Given the description of an element on the screen output the (x, y) to click on. 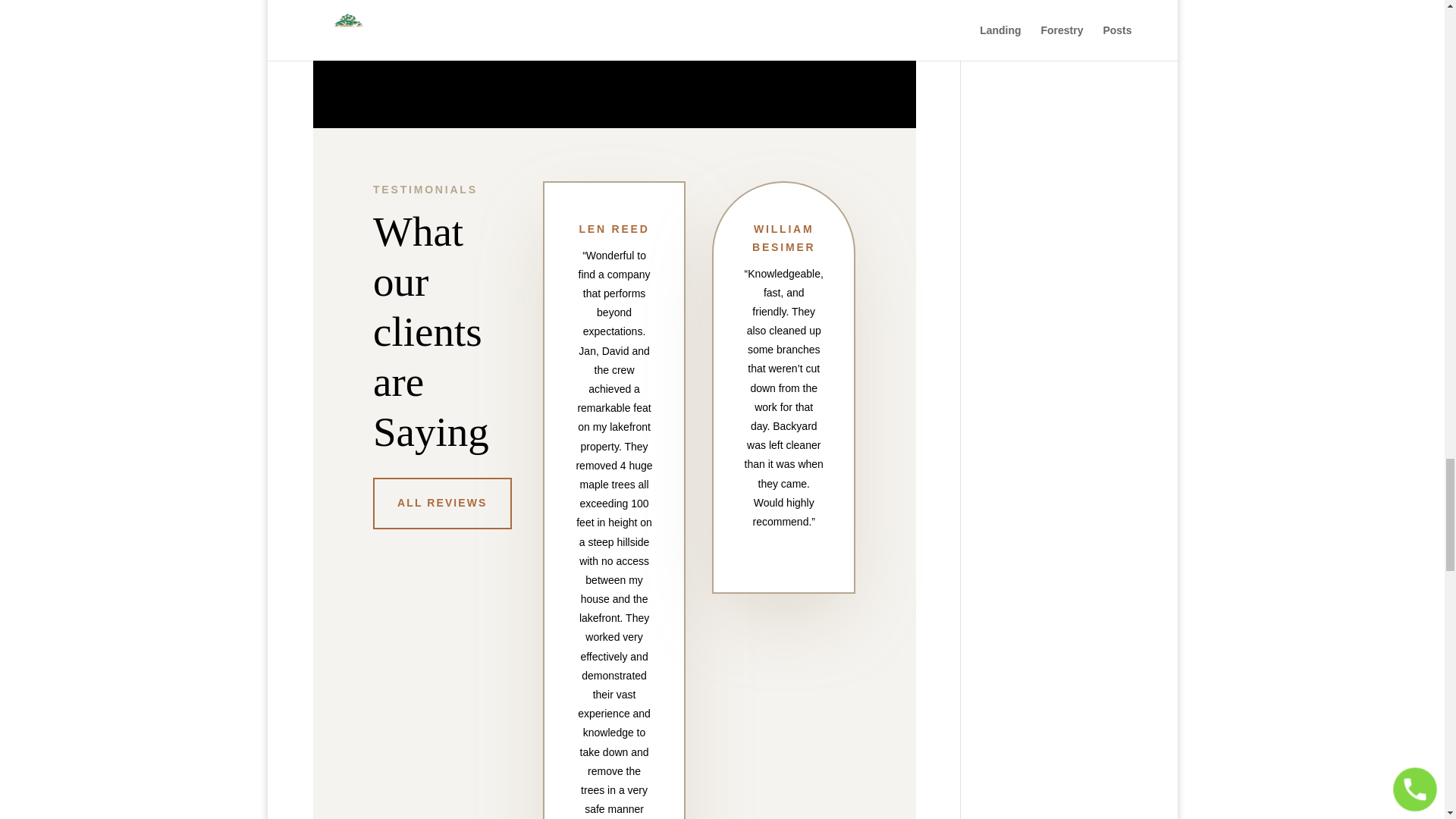
ALL REVIEWS (442, 503)
